Given the description of an element on the screen output the (x, y) to click on. 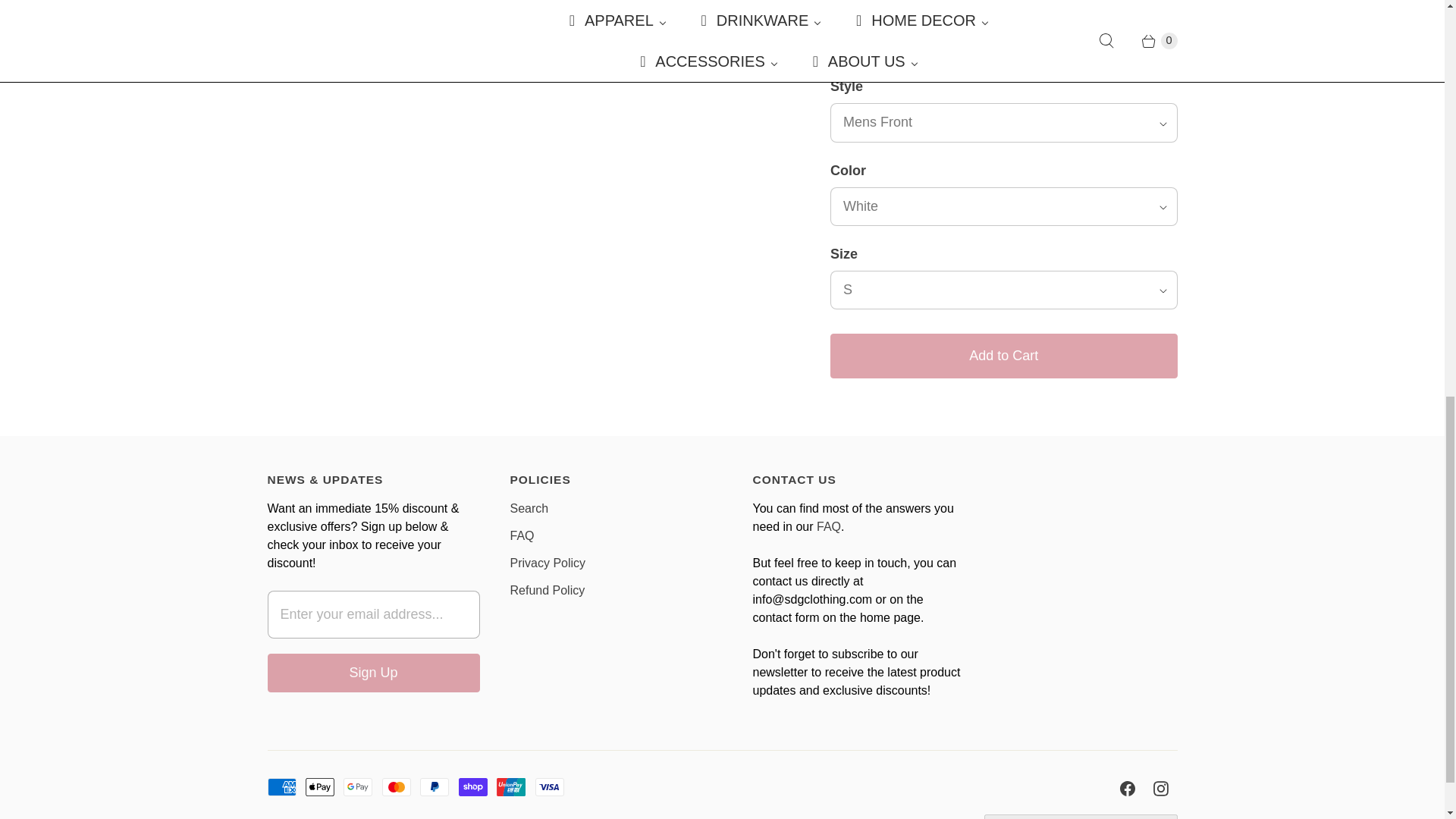
Apple Pay (319, 787)
American Express (280, 787)
Visa (549, 787)
Mastercard (395, 787)
Union Pay (510, 787)
Shop Pay (472, 787)
Google Pay (357, 787)
PayPal (434, 787)
Sign Up (372, 672)
